Given the description of an element on the screen output the (x, y) to click on. 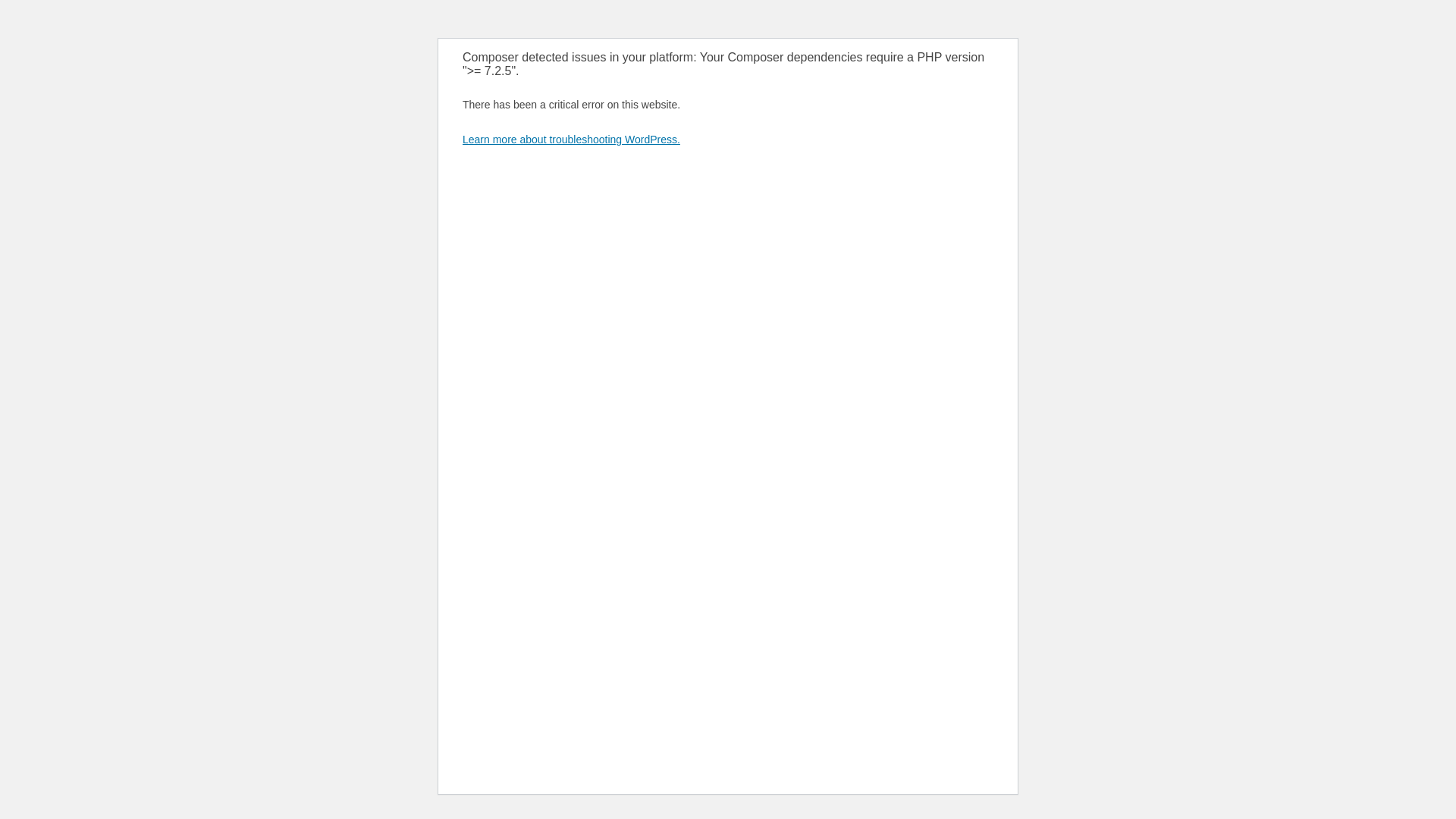
Learn more about troubleshooting WordPress. Element type: text (571, 139)
